Given the description of an element on the screen output the (x, y) to click on. 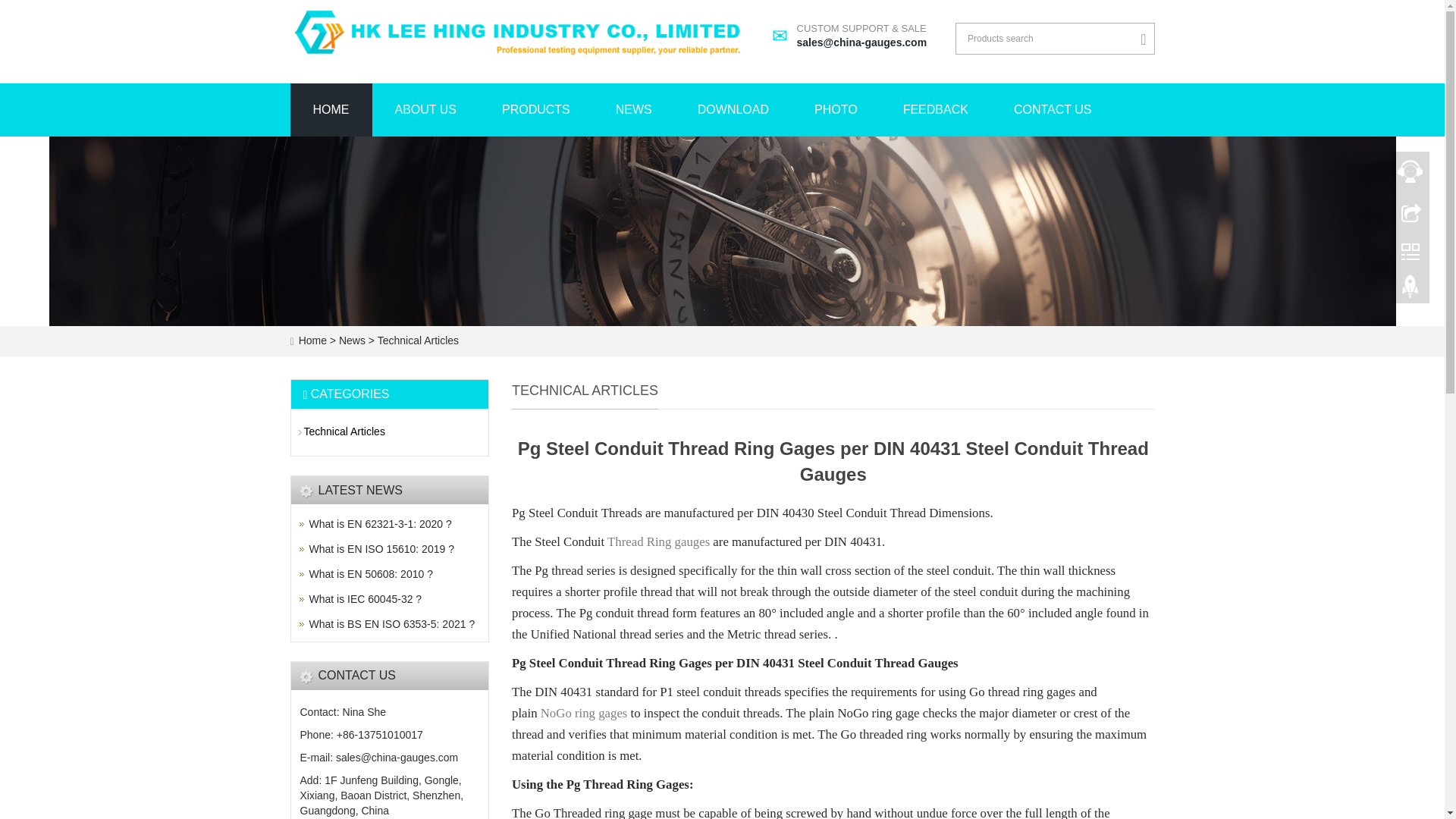
ABOUT US (379, 523)
CONTACT US (425, 109)
FEEDBACK (1053, 109)
HOME (935, 109)
PRODUCTS (330, 109)
Top (370, 573)
News (535, 109)
DOWNLOAD (1410, 290)
PHOTO (353, 340)
Technical Articles (381, 548)
Home (733, 109)
